Given the description of an element on the screen output the (x, y) to click on. 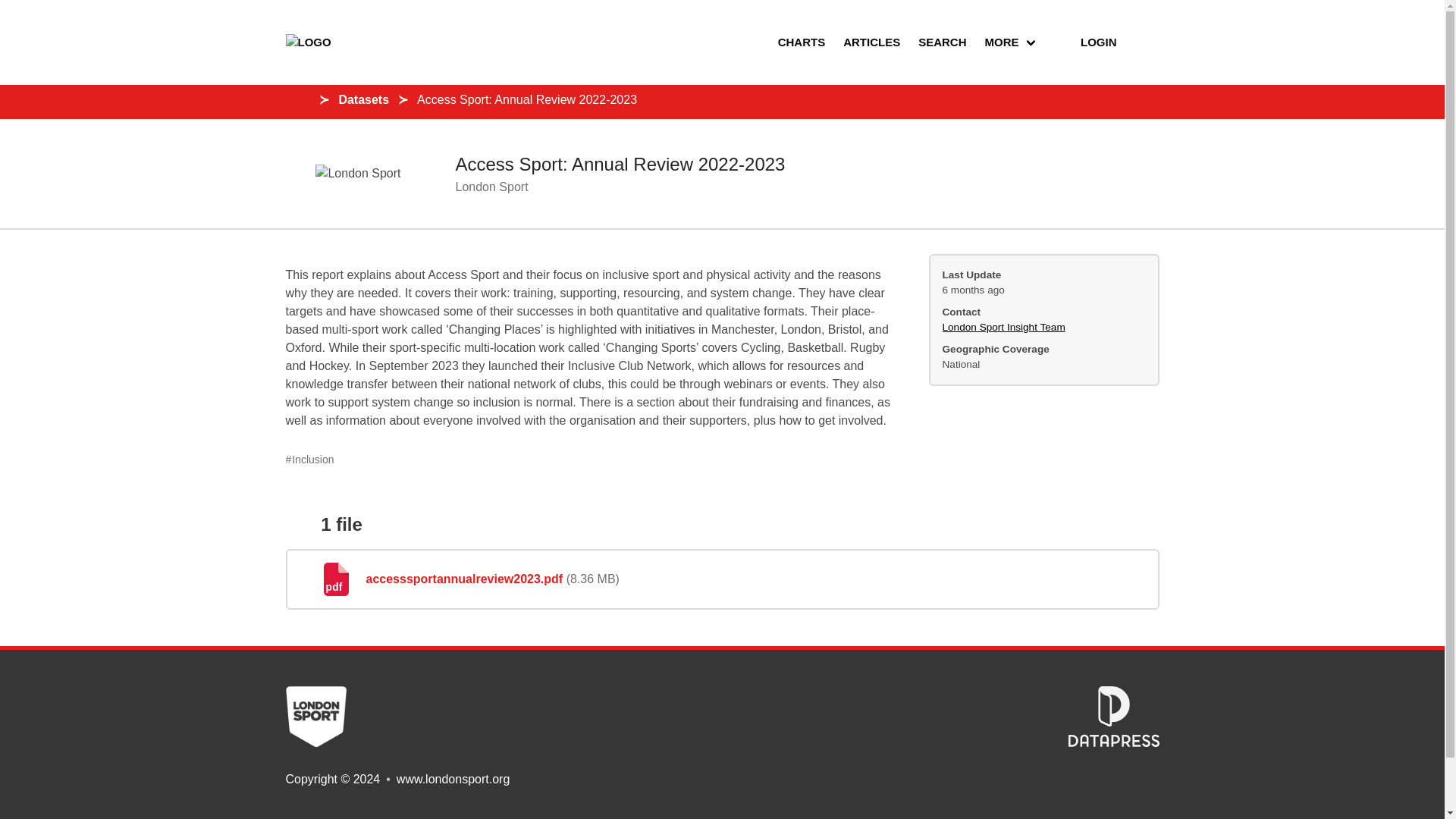
www.londonsport.org (452, 779)
LOGIN (1085, 42)
Access Sport: Annual Review 2022-2023 (526, 99)
Datasets (363, 99)
London Sport (490, 186)
London Sport Insight Team (1003, 326)
Access Sport: Annual Review 2022-2023 (619, 163)
DataPress Data Catalogue (1112, 742)
